Given the description of an element on the screen output the (x, y) to click on. 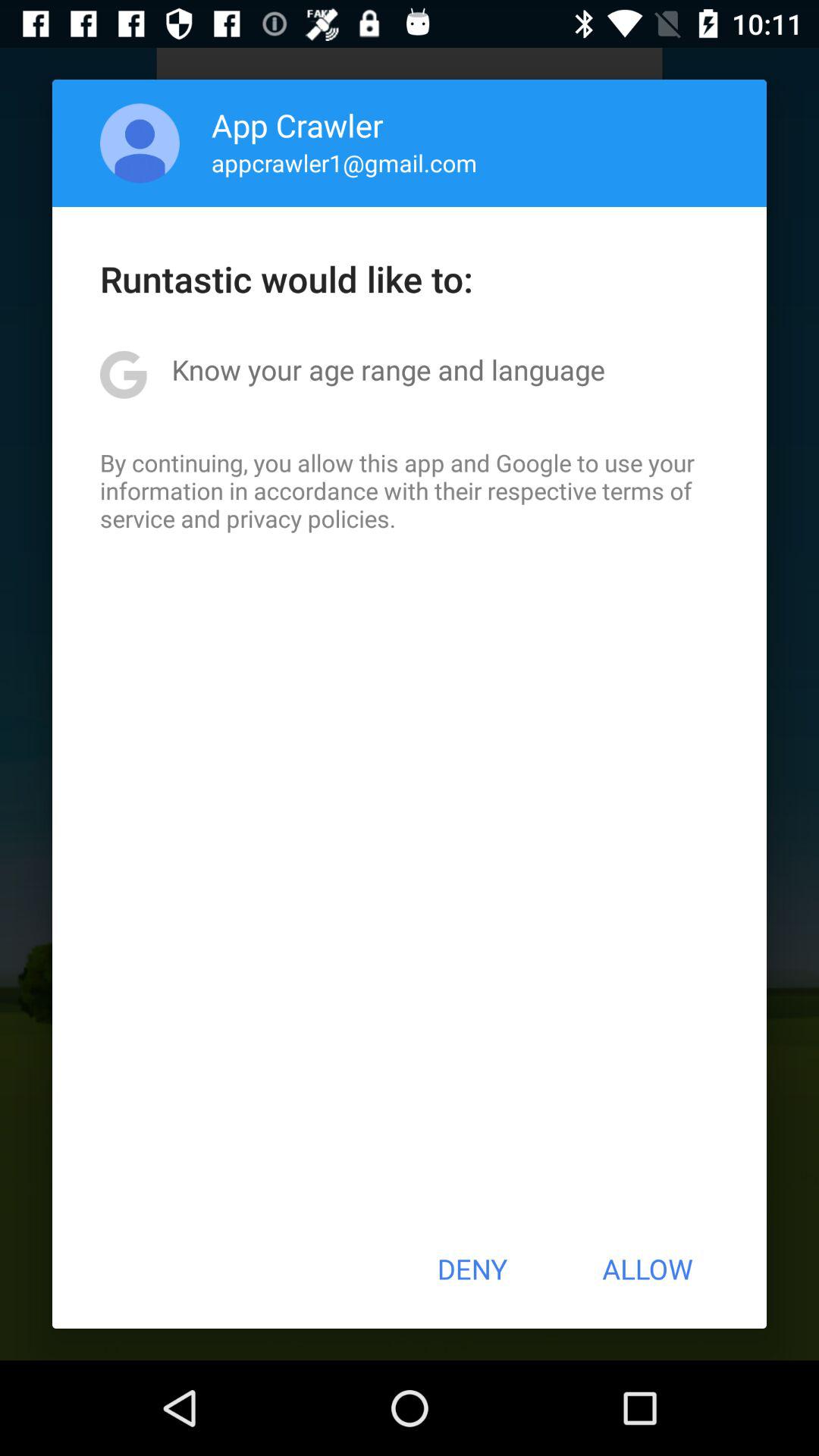
turn off the app crawler app (297, 124)
